Given the description of an element on the screen output the (x, y) to click on. 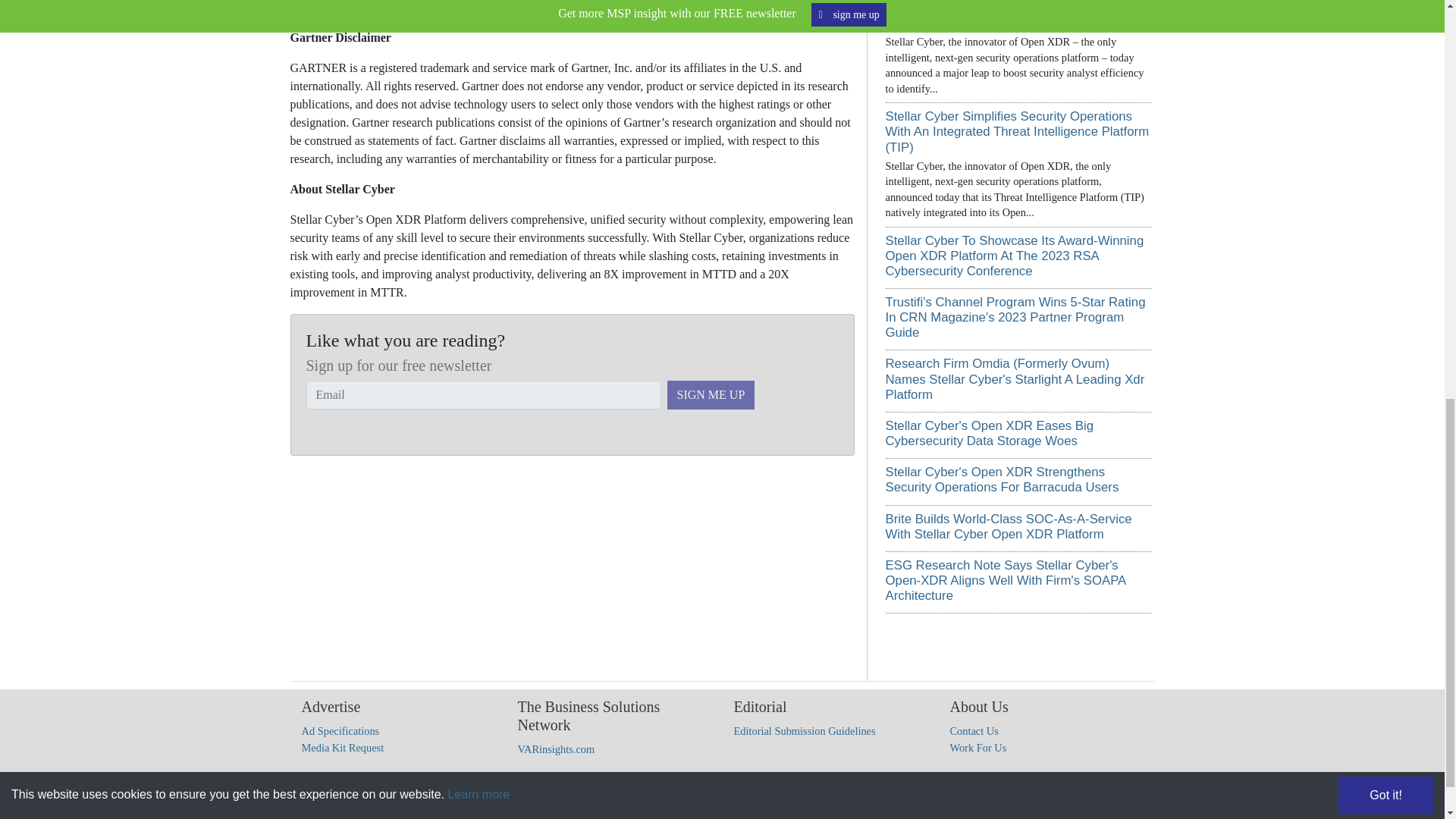
SIGN ME UP (710, 394)
